Given the description of an element on the screen output the (x, y) to click on. 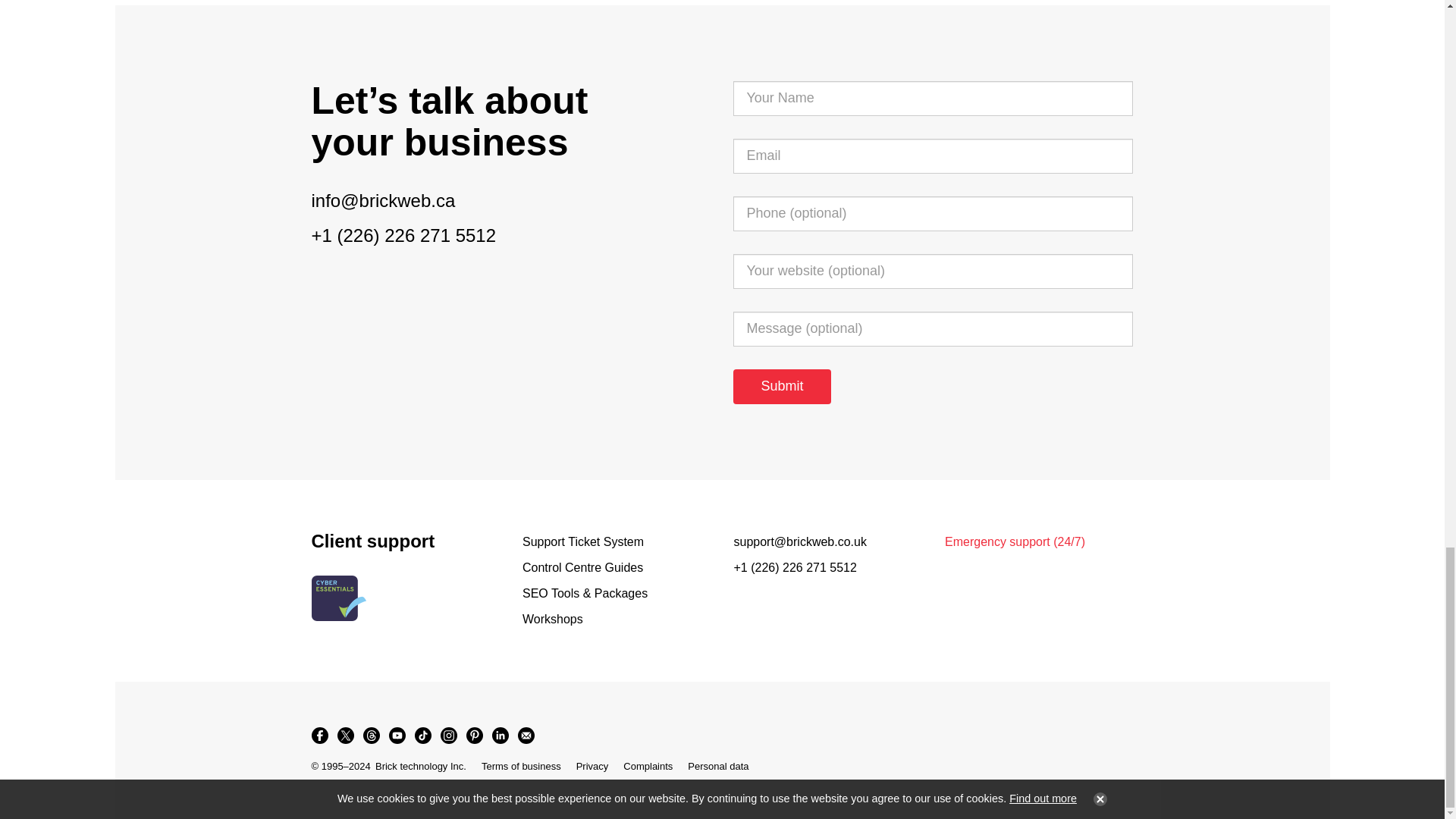
Newsletter (525, 735)
Get a copy of your personal data or Erase my personal data (717, 766)
Facebook (318, 735)
X (344, 735)
YouTube (396, 735)
Submit (781, 386)
Instagram (448, 735)
Threads (371, 735)
TikTok (422, 735)
Pinterest (473, 735)
LinkedIn (499, 735)
